Given the description of an element on the screen output the (x, y) to click on. 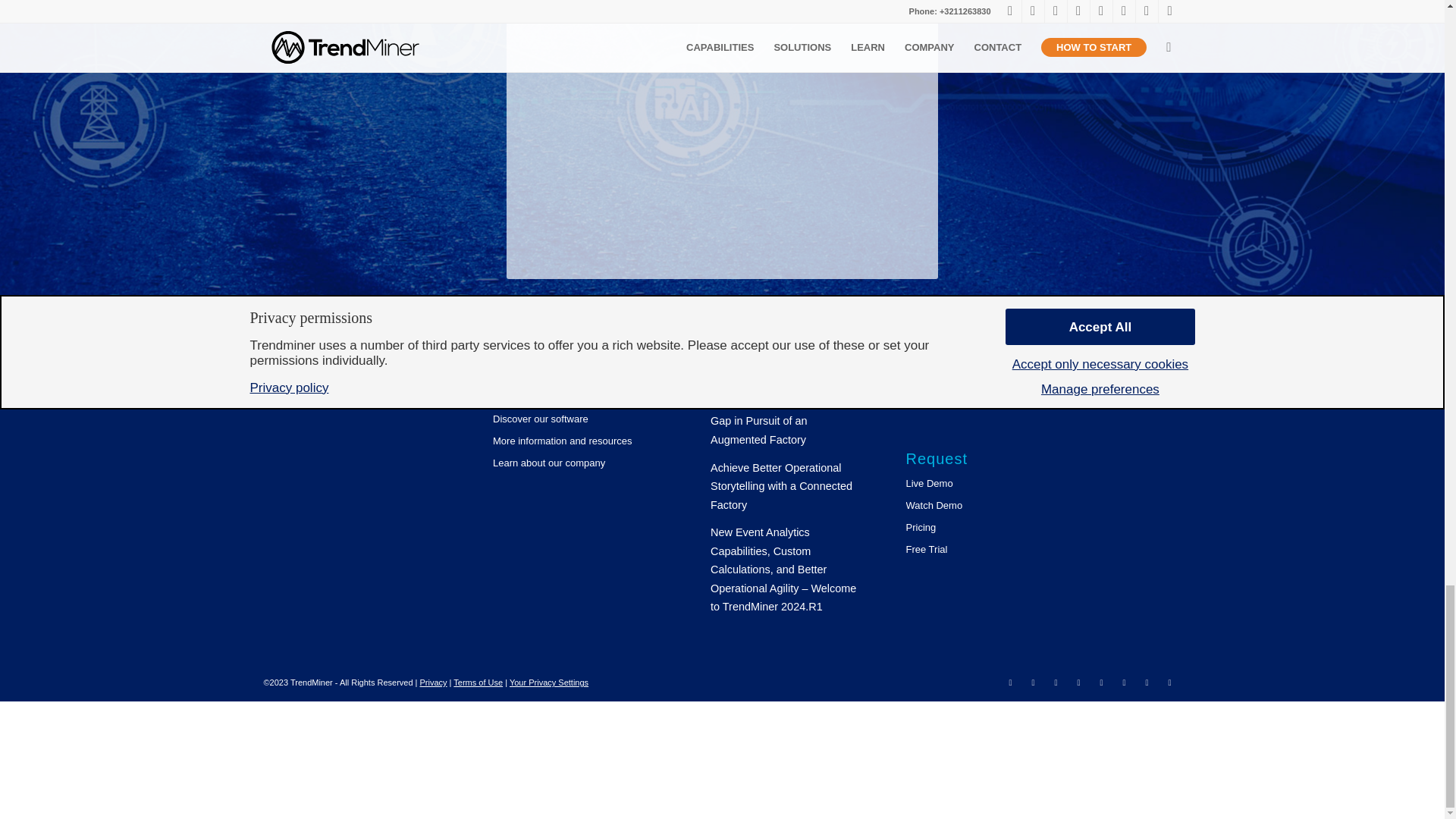
Youtube (1078, 681)
Instagram (1124, 681)
LinkedIn (1010, 681)
Facebook (1056, 681)
Twitter (1033, 681)
Vimeo (1101, 681)
